Given the description of an element on the screen output the (x, y) to click on. 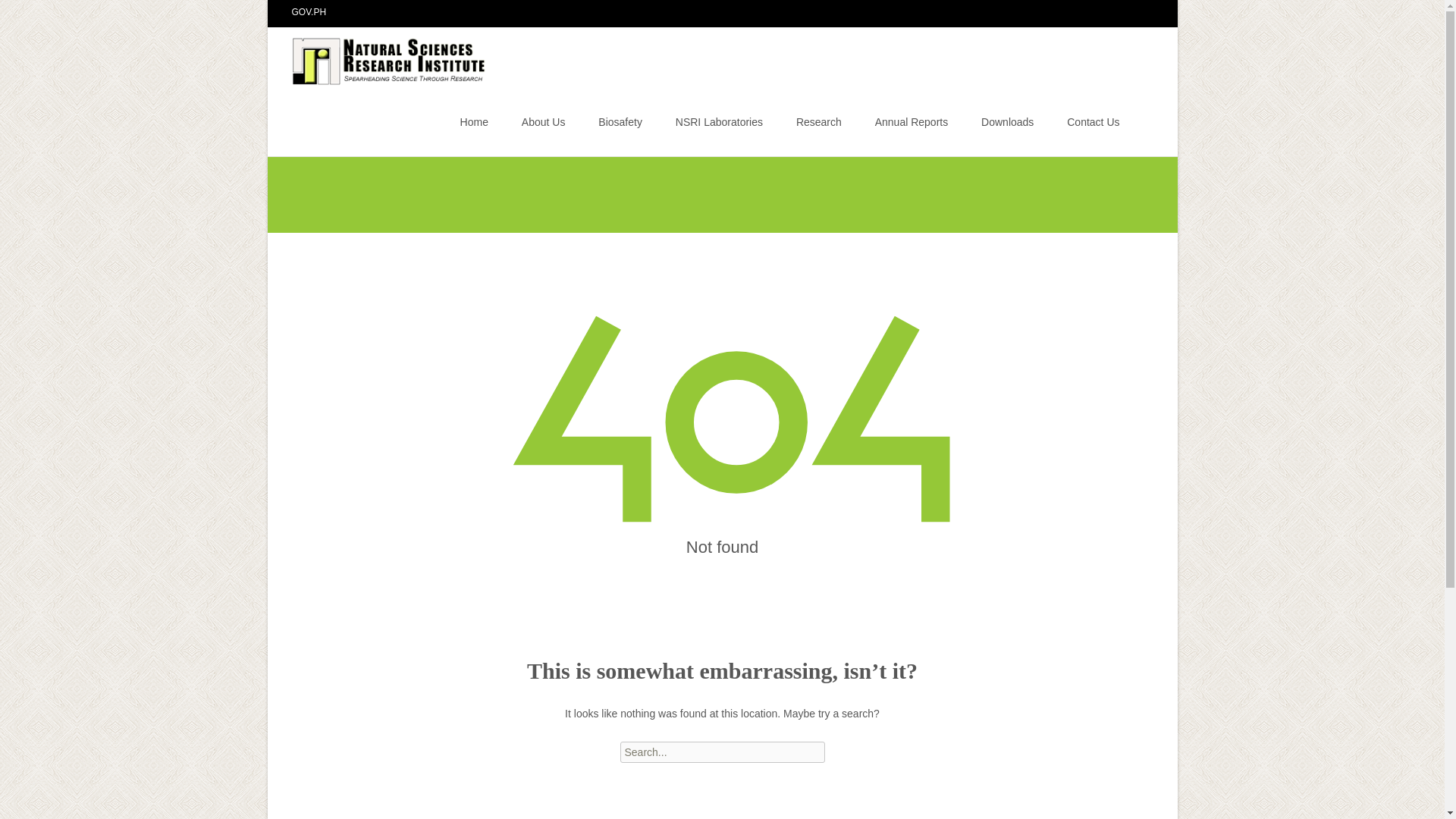
Annual Reports (912, 121)
NSRI Laboratories (718, 121)
Search for: (722, 752)
Search (18, 14)
GOV.PH (308, 11)
Search for: (1139, 123)
Natural Sciences Research Institute (378, 57)
Search (34, 14)
